Given the description of an element on the screen output the (x, y) to click on. 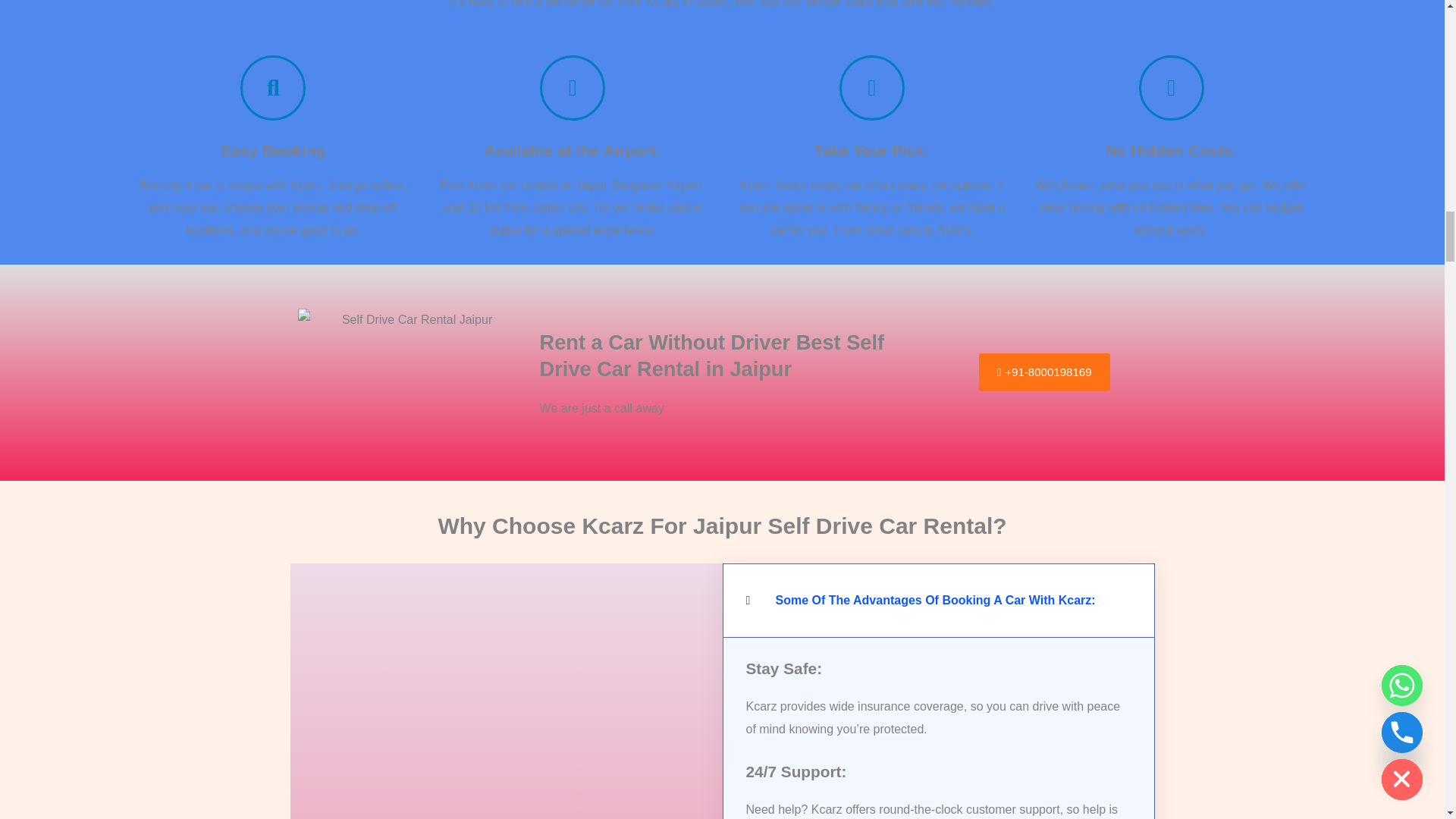
Available at the Airport: (572, 149)
Easy Booking (273, 149)
Take Your Pick: (871, 149)
